Given the description of an element on the screen output the (x, y) to click on. 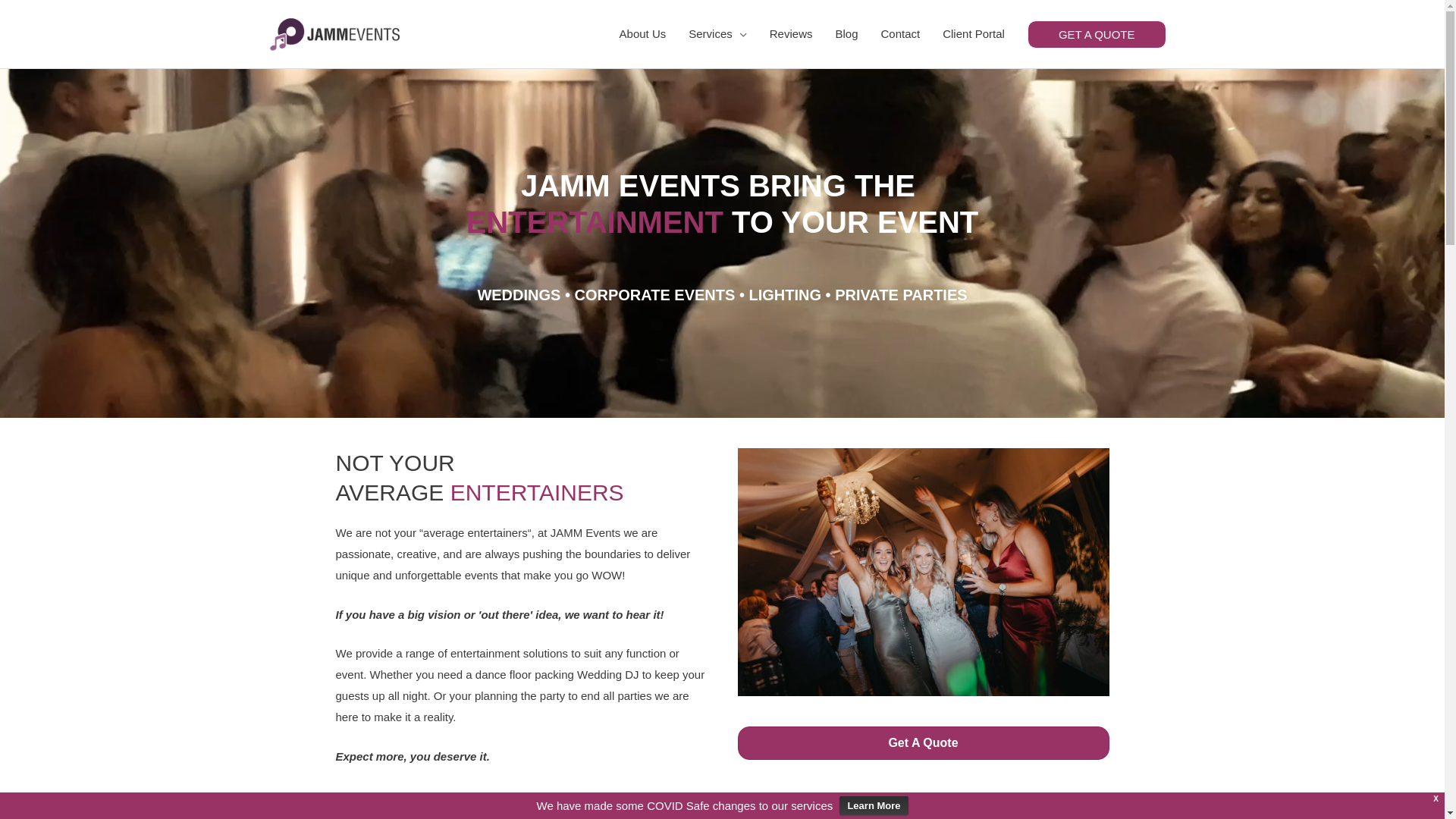
Client Portal Element type: text (973, 34)
Reviews Element type: text (791, 34)
Blog Element type: text (846, 34)
About Us Element type: text (642, 34)
Learn More Element type: text (873, 805)
Get A Quote Element type: text (922, 742)
Wedding DJ Bride Dancefloor Element type: hover (922, 572)
GET A QUOTE Element type: text (1096, 33)
Services Element type: text (717, 34)
Contact Element type: text (900, 34)
